Given the description of an element on the screen output the (x, y) to click on. 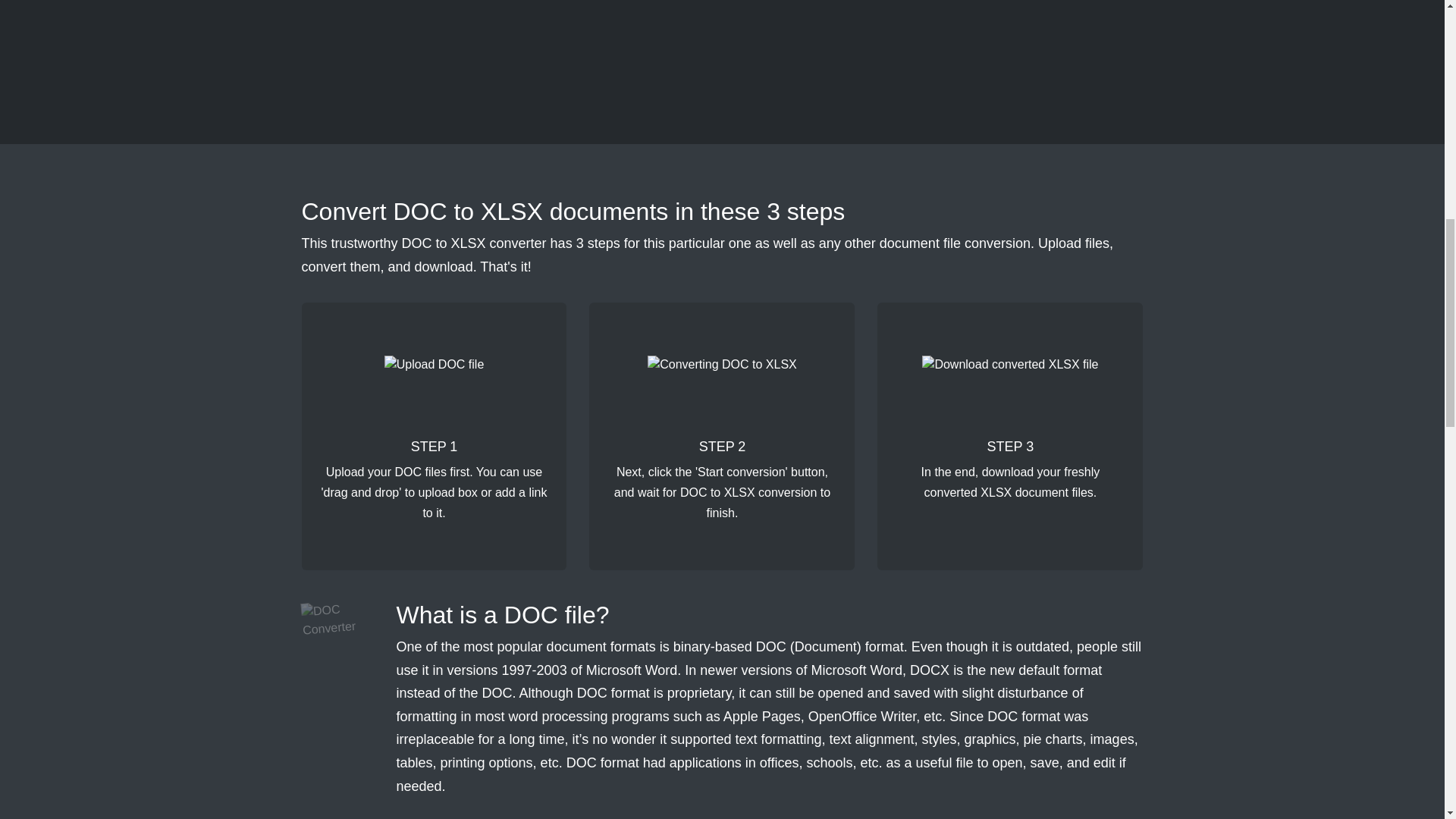
Converting DOC to XLSX (721, 383)
Upload DOC file (434, 383)
Download converted XLSX file (1009, 383)
